Given the description of an element on the screen output the (x, y) to click on. 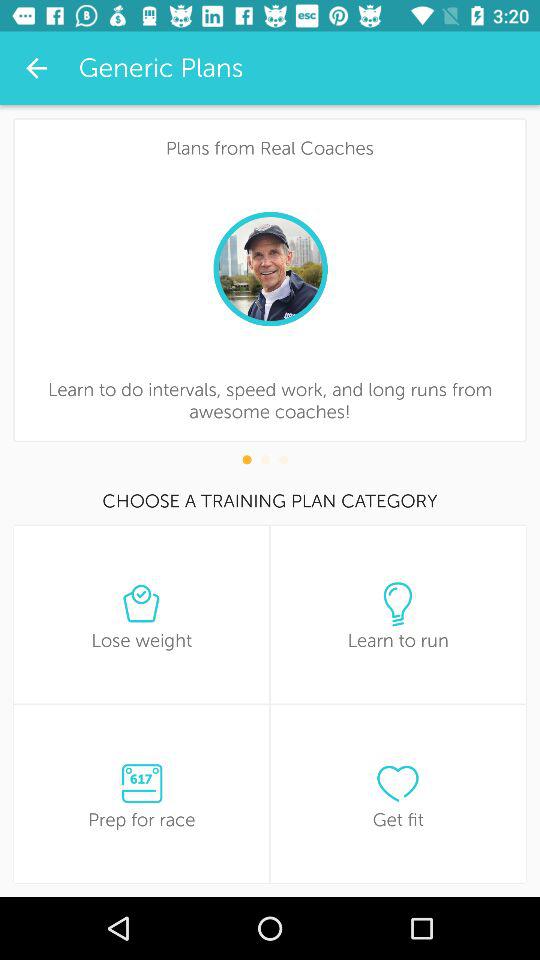
launch the item next to generic plans icon (36, 68)
